Given the description of an element on the screen output the (x, y) to click on. 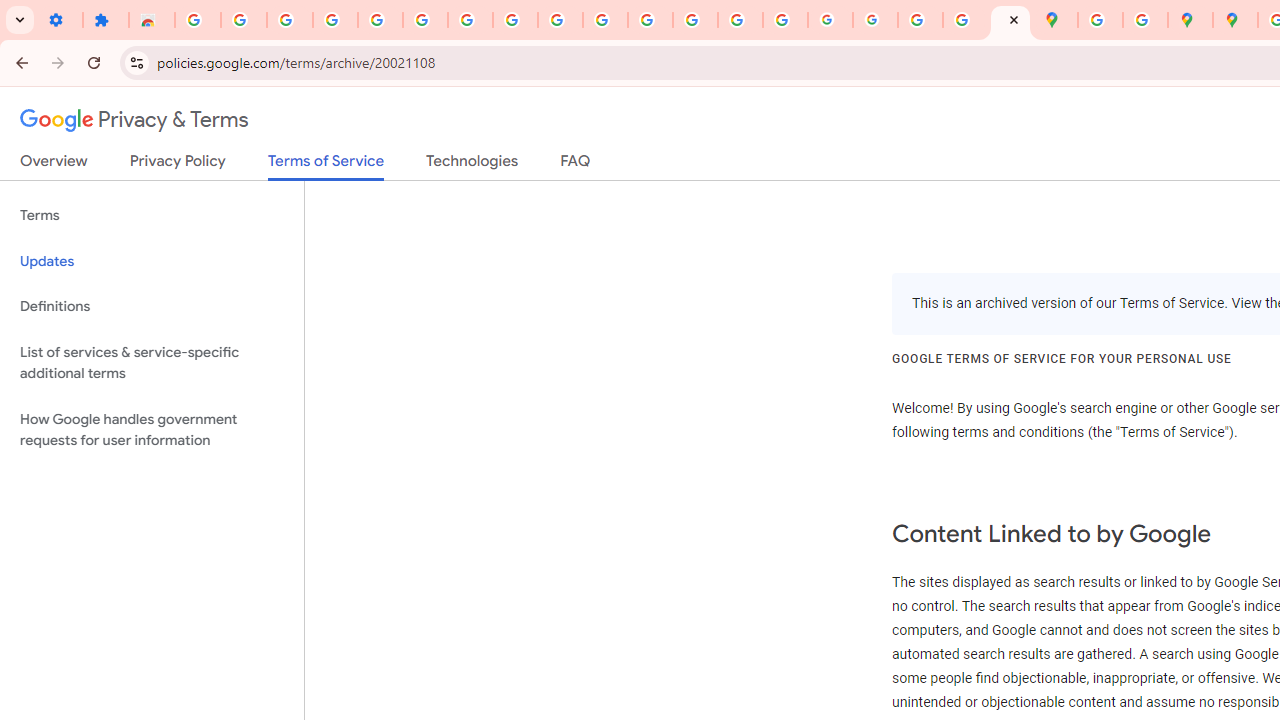
Terms of Service (326, 166)
Privacy & Terms (134, 120)
Settings - On startup (60, 20)
Updates (152, 261)
Extensions (106, 20)
Sign in - Google Accounts (425, 20)
Learn how to find your photos - Google Photos Help (335, 20)
YouTube (559, 20)
FAQ (575, 165)
